Given the description of an element on the screen output the (x, y) to click on. 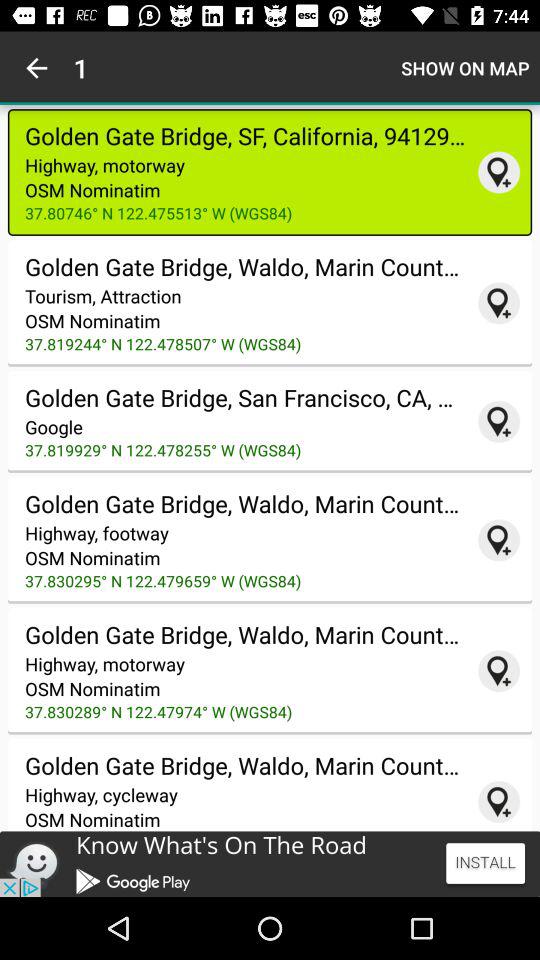
see location (499, 303)
